Given the description of an element on the screen output the (x, y) to click on. 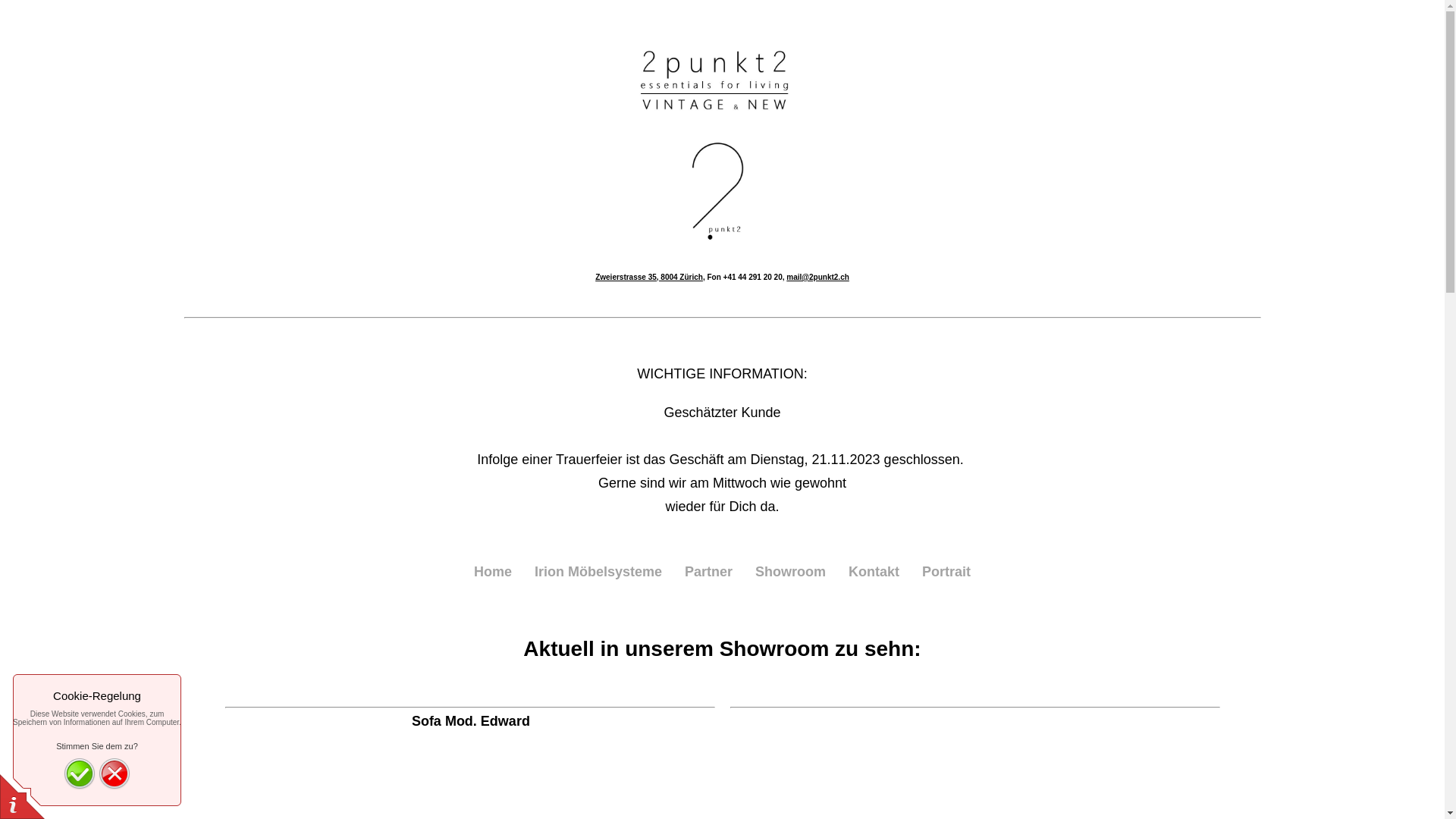
Portrait Element type: text (946, 570)
Showroom Element type: text (790, 570)
mail@2punkt2.ch Element type: text (817, 277)
Nein danke, weiter zu Google Element type: hover (114, 774)
Kontakt Element type: text (873, 570)
Partner Element type: text (708, 570)
Home Element type: text (492, 570)
Ja, ich stimme zu Element type: hover (79, 774)
